Given the description of an element on the screen output the (x, y) to click on. 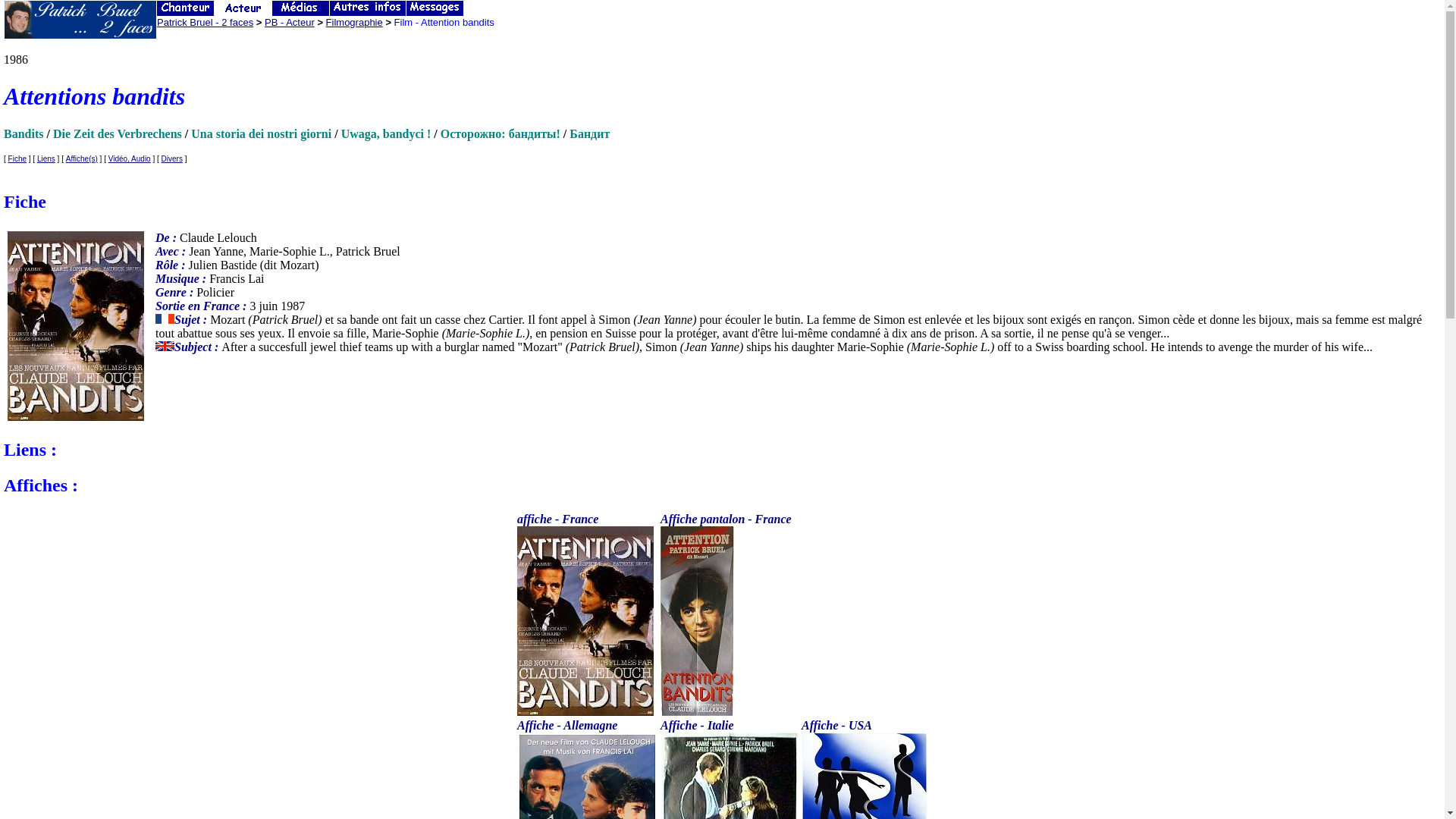
Liens : Element type: text (721, 449)
1986       Element type: text (24, 59)
PB - Acteur Element type: text (289, 22)
Fiche Element type: text (721, 201)
Fiche Element type: text (17, 158)
Filmographie Element type: text (354, 22)
Affiches : Element type: text (721, 484)
Divers Element type: text (171, 158)
Liens Element type: text (46, 158)
Affiche(s) Element type: text (81, 158)
Patrick Bruel - 2 faces Element type: text (204, 22)
